Given the description of an element on the screen output the (x, y) to click on. 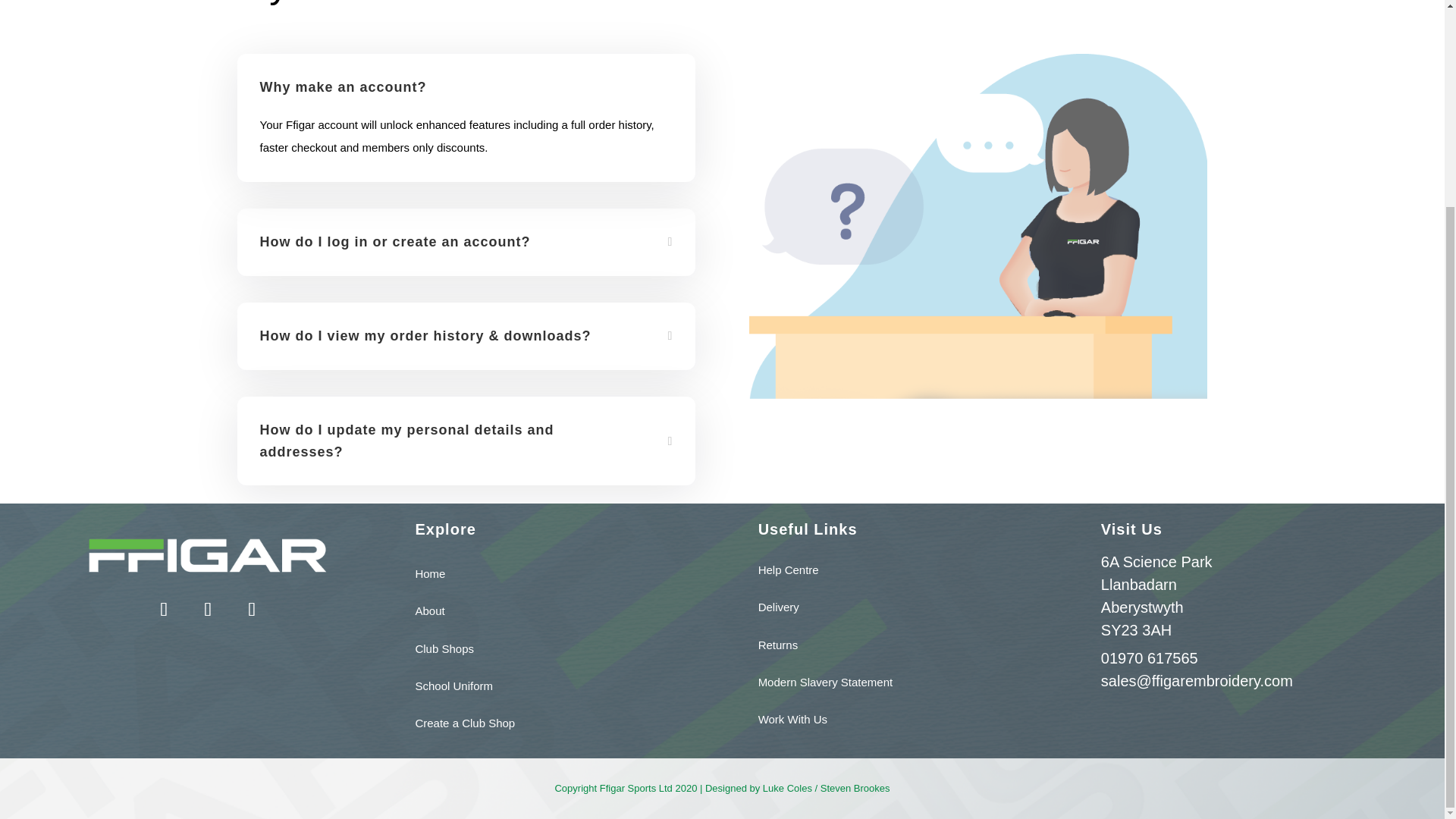
Follow on Instagram (251, 609)
Follow on Facebook (163, 609)
Follow on X (208, 609)
